Given the description of an element on the screen output the (x, y) to click on. 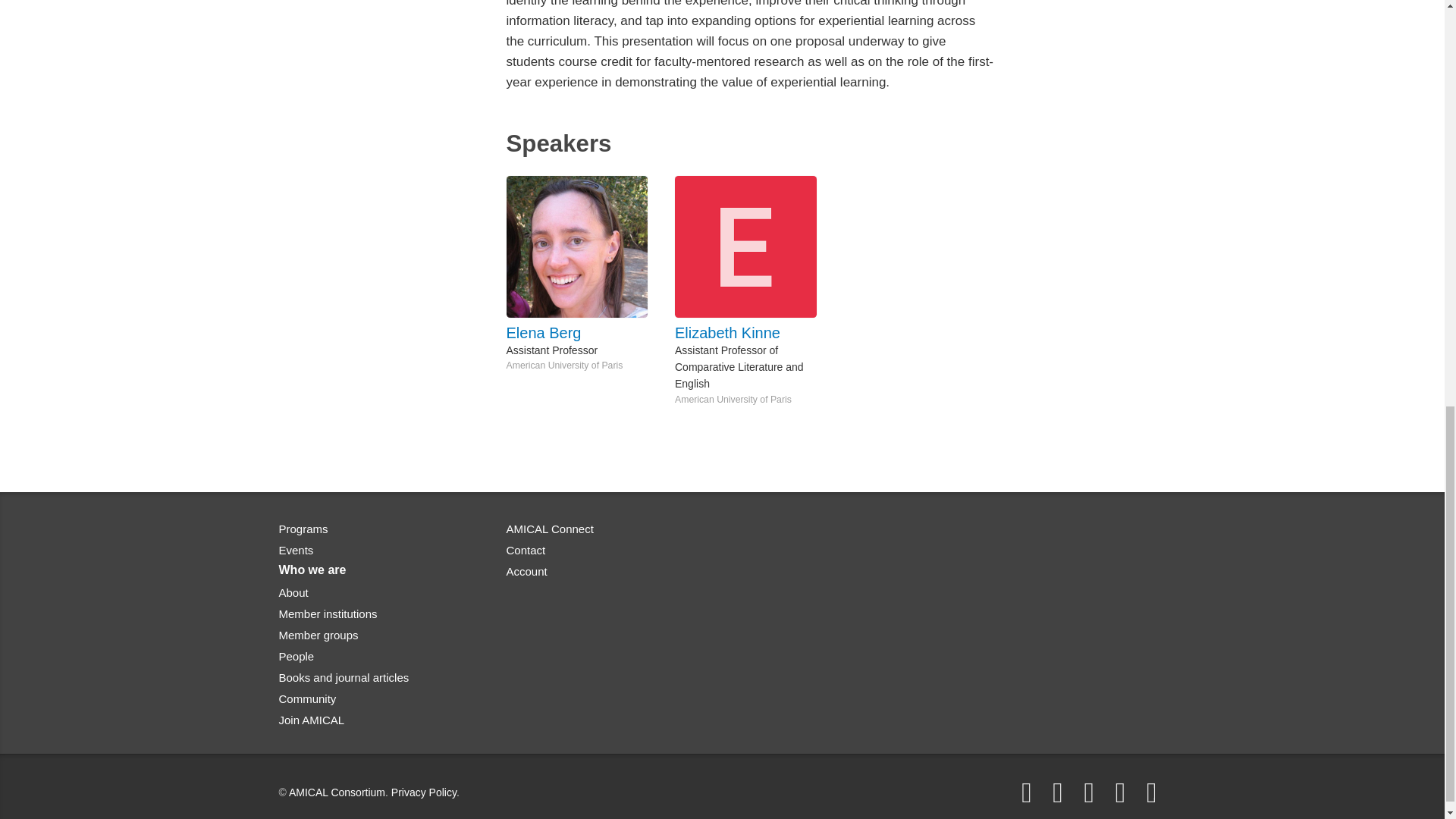
Books and journal articles (344, 676)
Elena Berg (583, 332)
Member institutions (328, 612)
Account (526, 571)
About (293, 591)
Community (307, 697)
AMICAL Consortium (336, 791)
Contact (526, 549)
Facebook (1026, 791)
Privacy Policy (424, 791)
Elizabeth Kinne (751, 332)
Member groups (318, 634)
People (296, 655)
Programs (304, 528)
Events (296, 549)
